Given the description of an element on the screen output the (x, y) to click on. 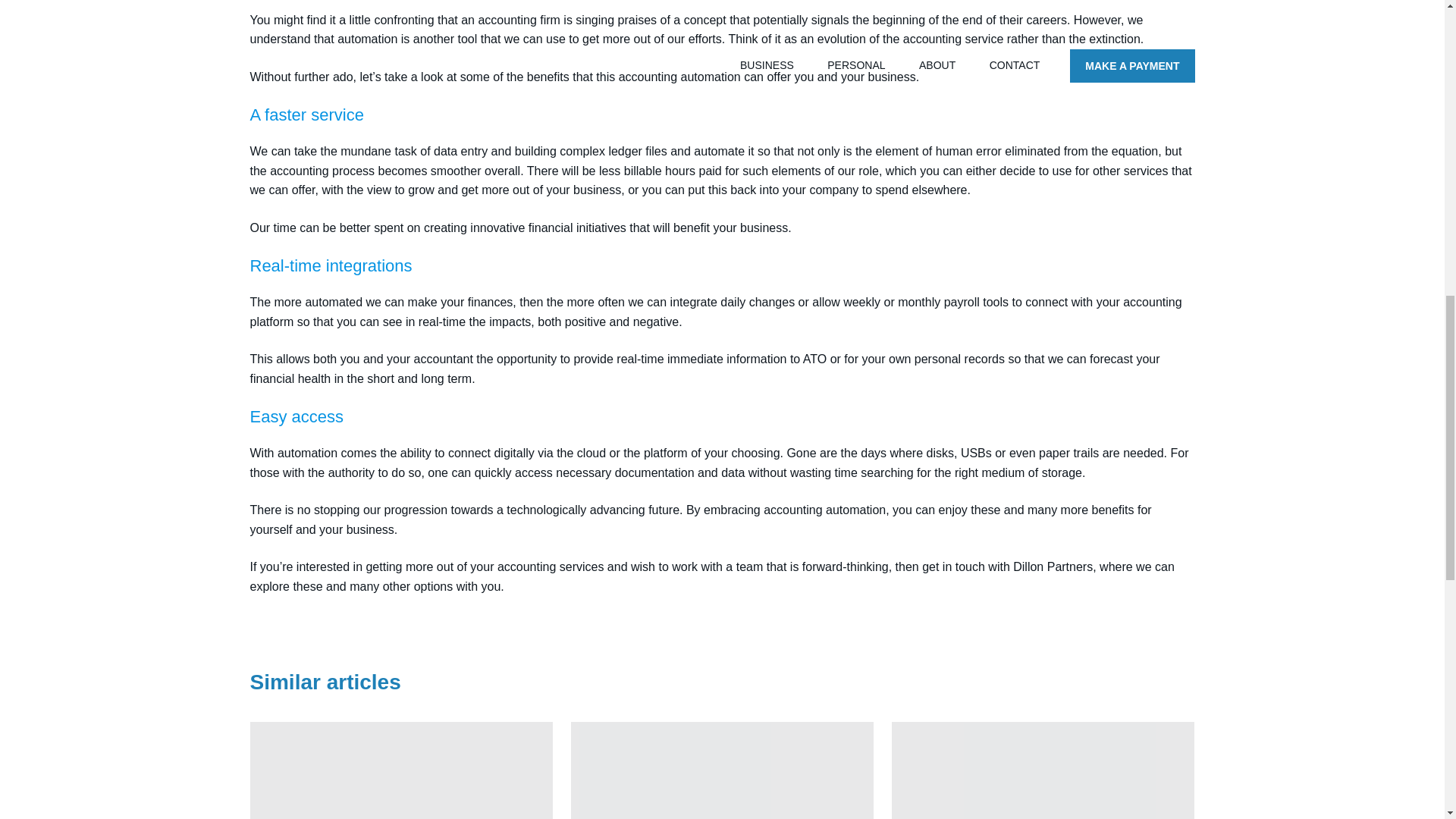
get in touch (401, 770)
